Given the description of an element on the screen output the (x, y) to click on. 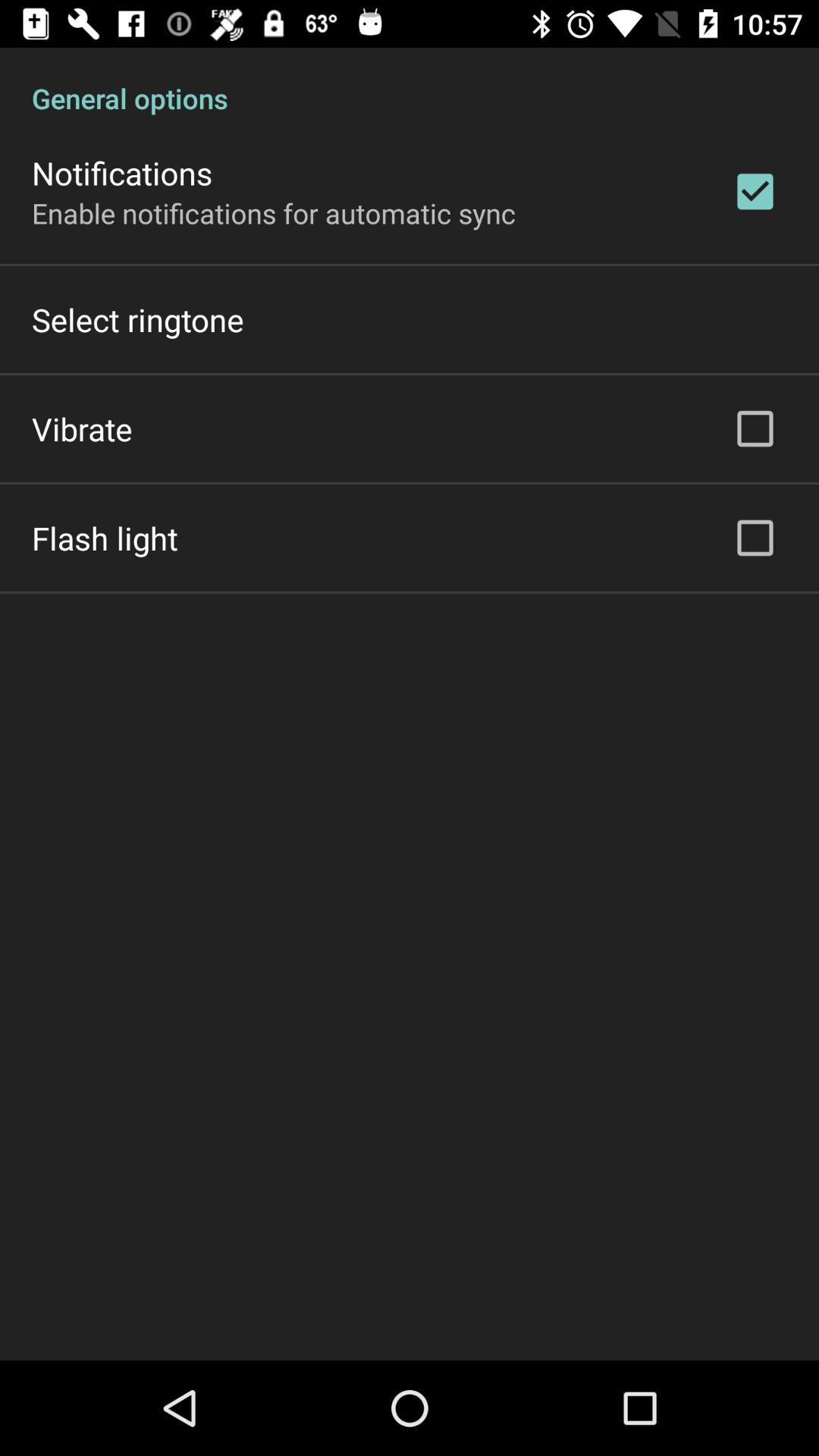
turn off select ringtone icon (137, 319)
